Given the description of an element on the screen output the (x, y) to click on. 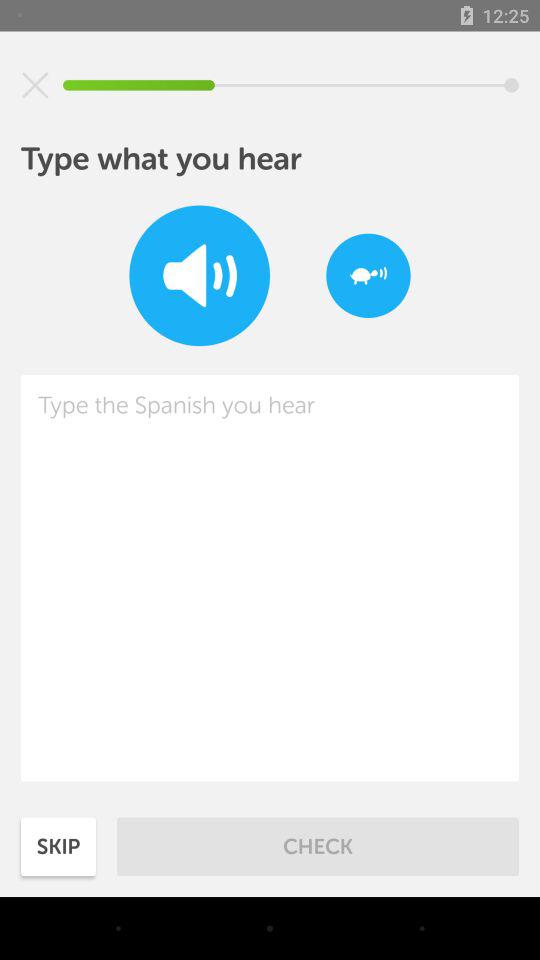
input words section (270, 578)
